Given the description of an element on the screen output the (x, y) to click on. 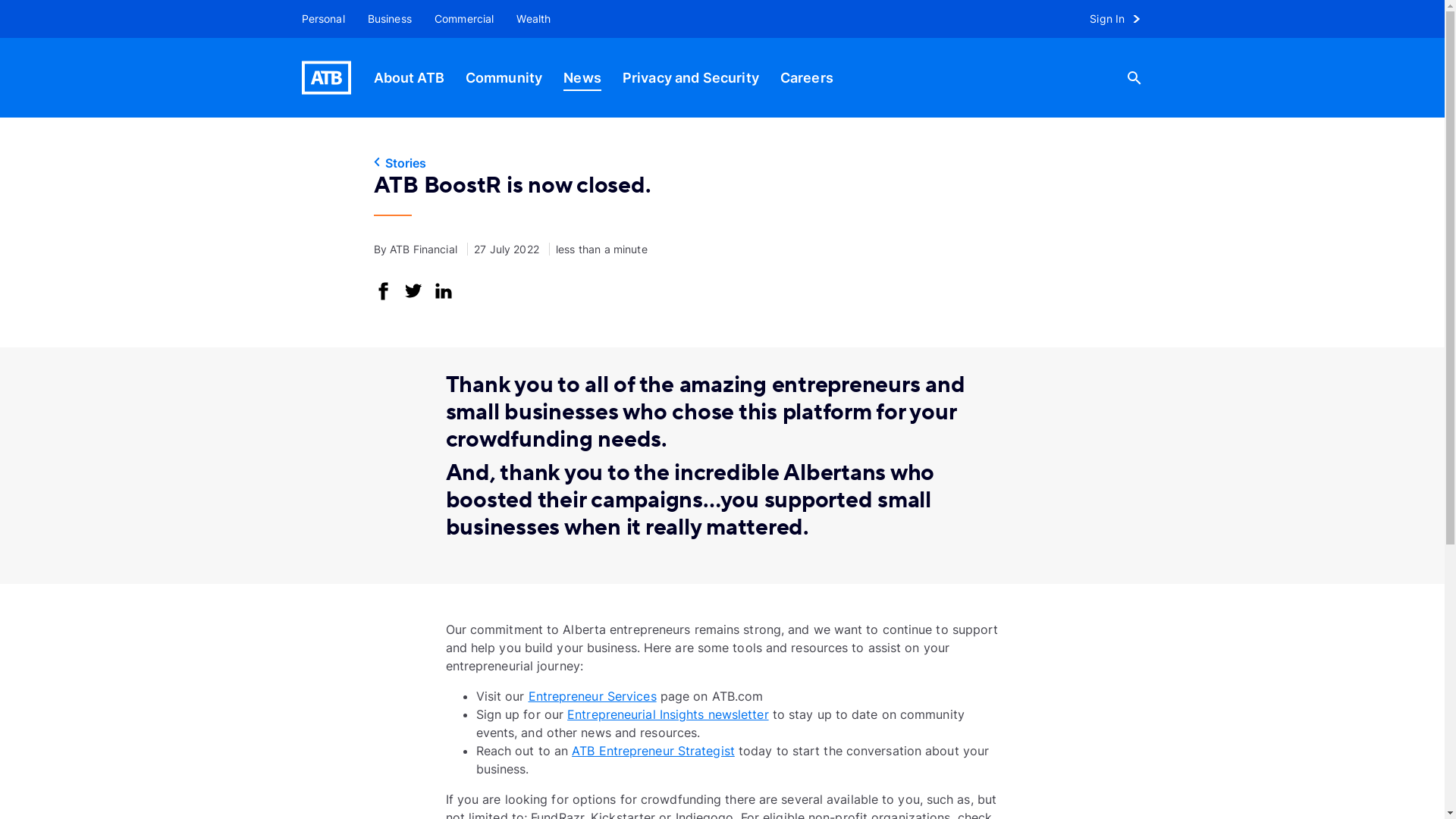
Stories Element type: text (721, 162)
Commercial Element type: text (464, 18)
Sign In Element type: text (1121, 18)
News Element type: text (581, 77)
ATB Entrepreneur Strategist Element type: text (652, 750)
Business Element type: text (389, 18)
Entrepreneur Services Element type: text (591, 695)
Wealth Element type: text (533, 18)
About ATB Element type: text (408, 77)
Entrepreneurial Insights newsletter Element type: text (667, 713)
Personal Element type: text (317, 18)
Community Element type: text (503, 77)
Careers Element type: text (806, 77)
Privacy and Security Element type: text (690, 77)
